Given the description of an element on the screen output the (x, y) to click on. 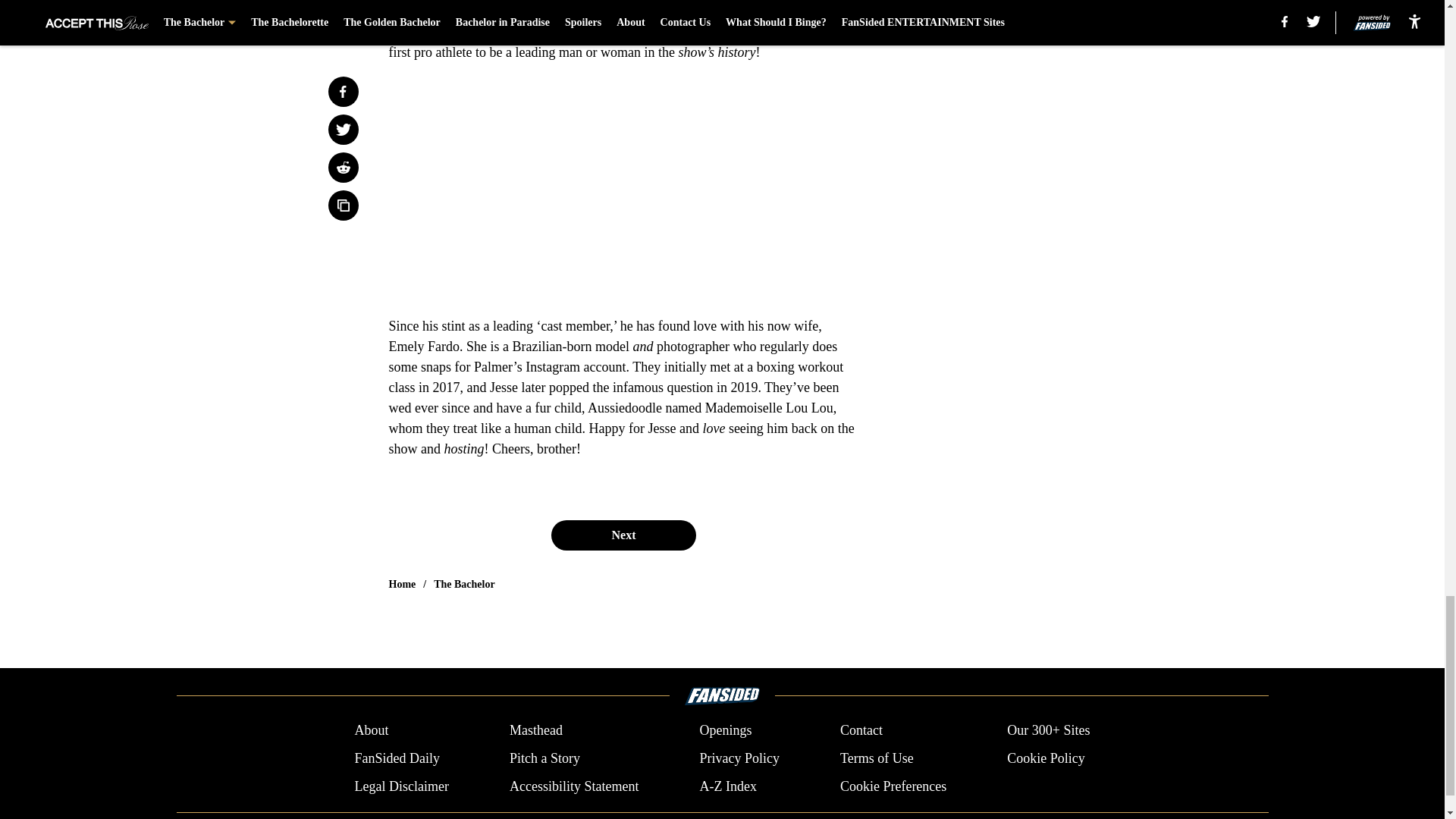
About (370, 730)
Openings (724, 730)
Next (622, 535)
FanSided Daily (396, 758)
The Bachelor (464, 584)
Privacy Policy (738, 758)
Contact (861, 730)
Pitch a Story (544, 758)
Home (401, 584)
Masthead (535, 730)
